Given the description of an element on the screen output the (x, y) to click on. 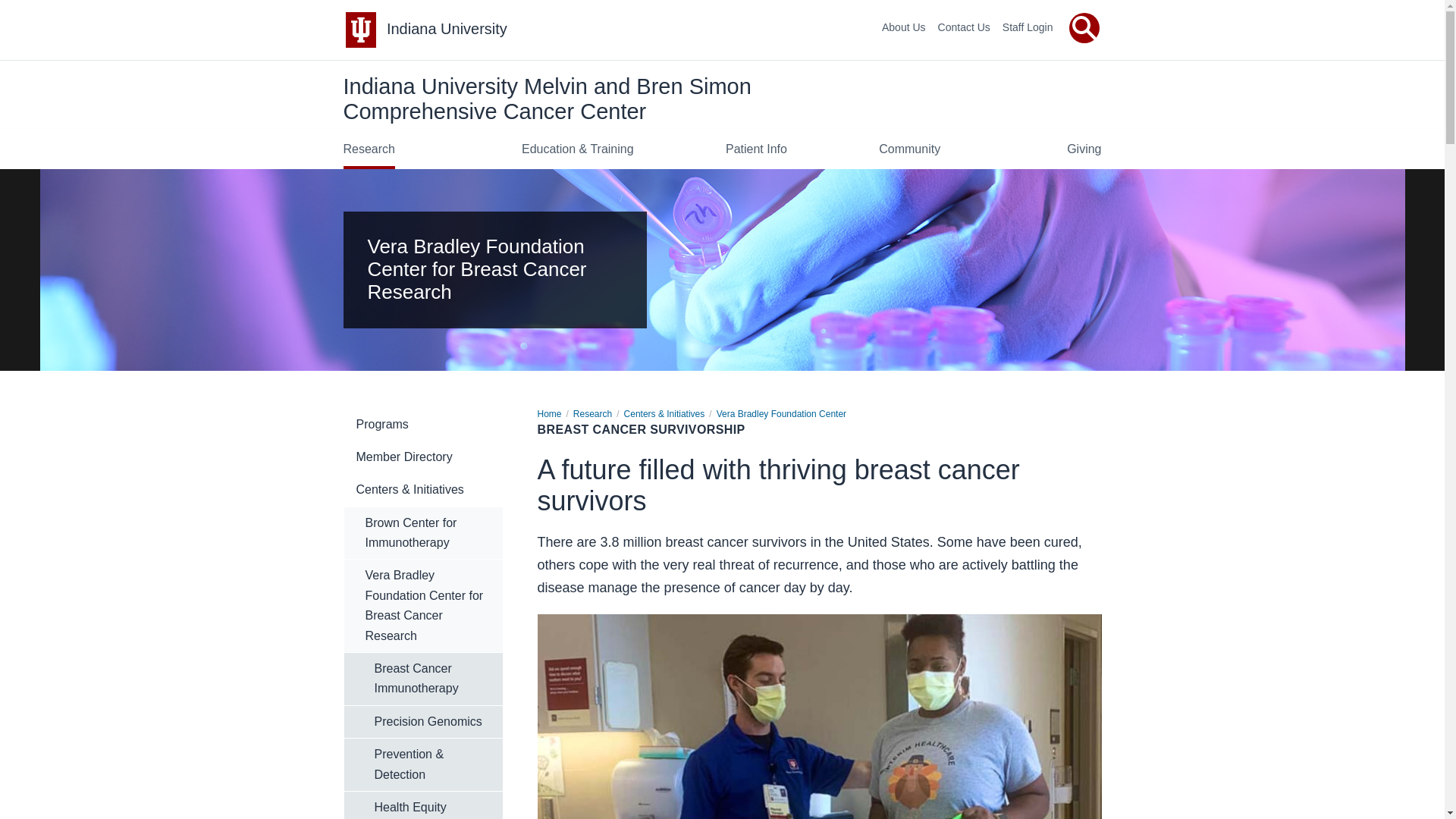
Indiana University (446, 28)
Indiana University (446, 28)
